Given the description of an element on the screen output the (x, y) to click on. 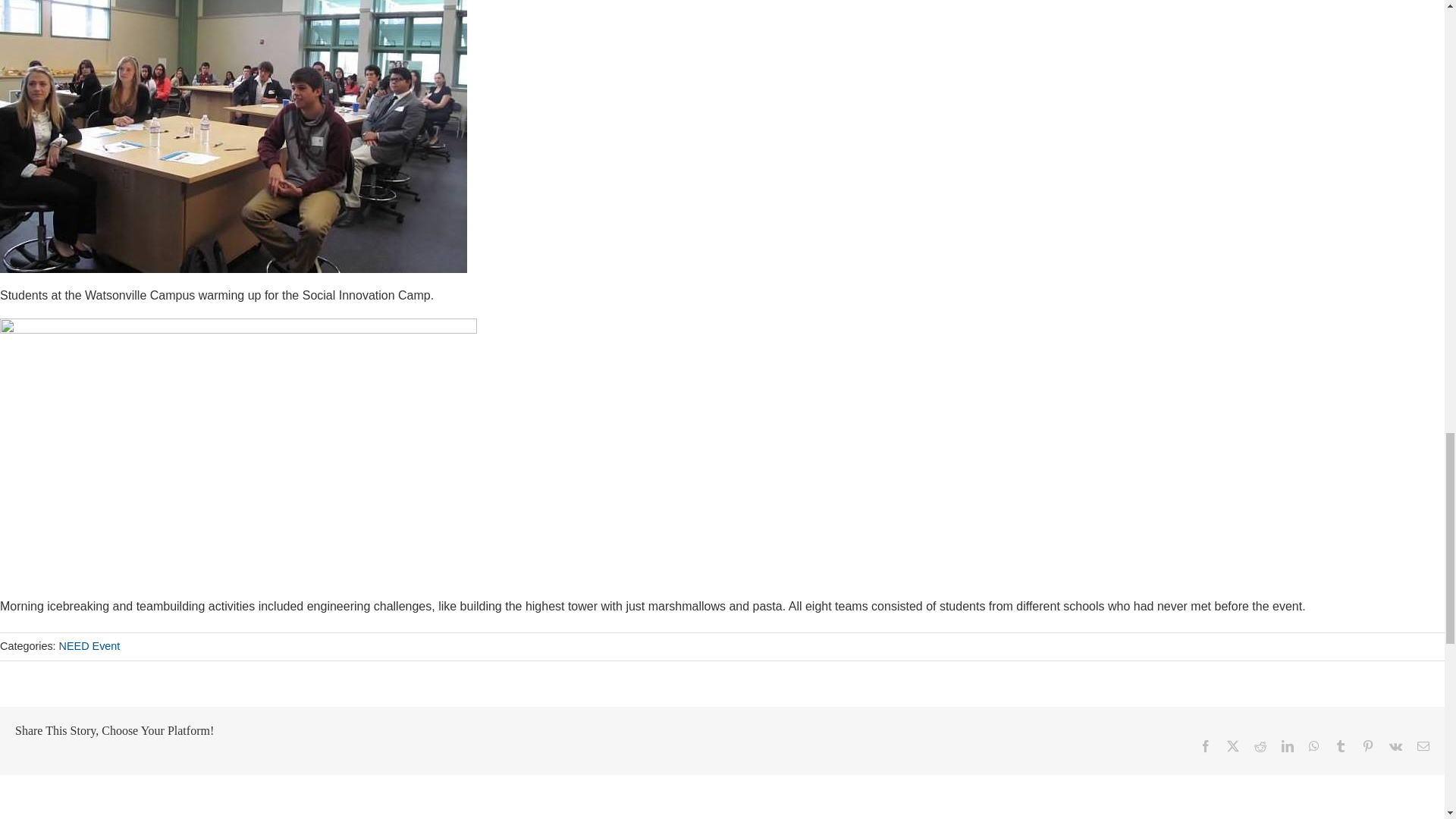
Facebook (1205, 746)
Twitter (1233, 746)
Reddit (1259, 746)
